Given the description of an element on the screen output the (x, y) to click on. 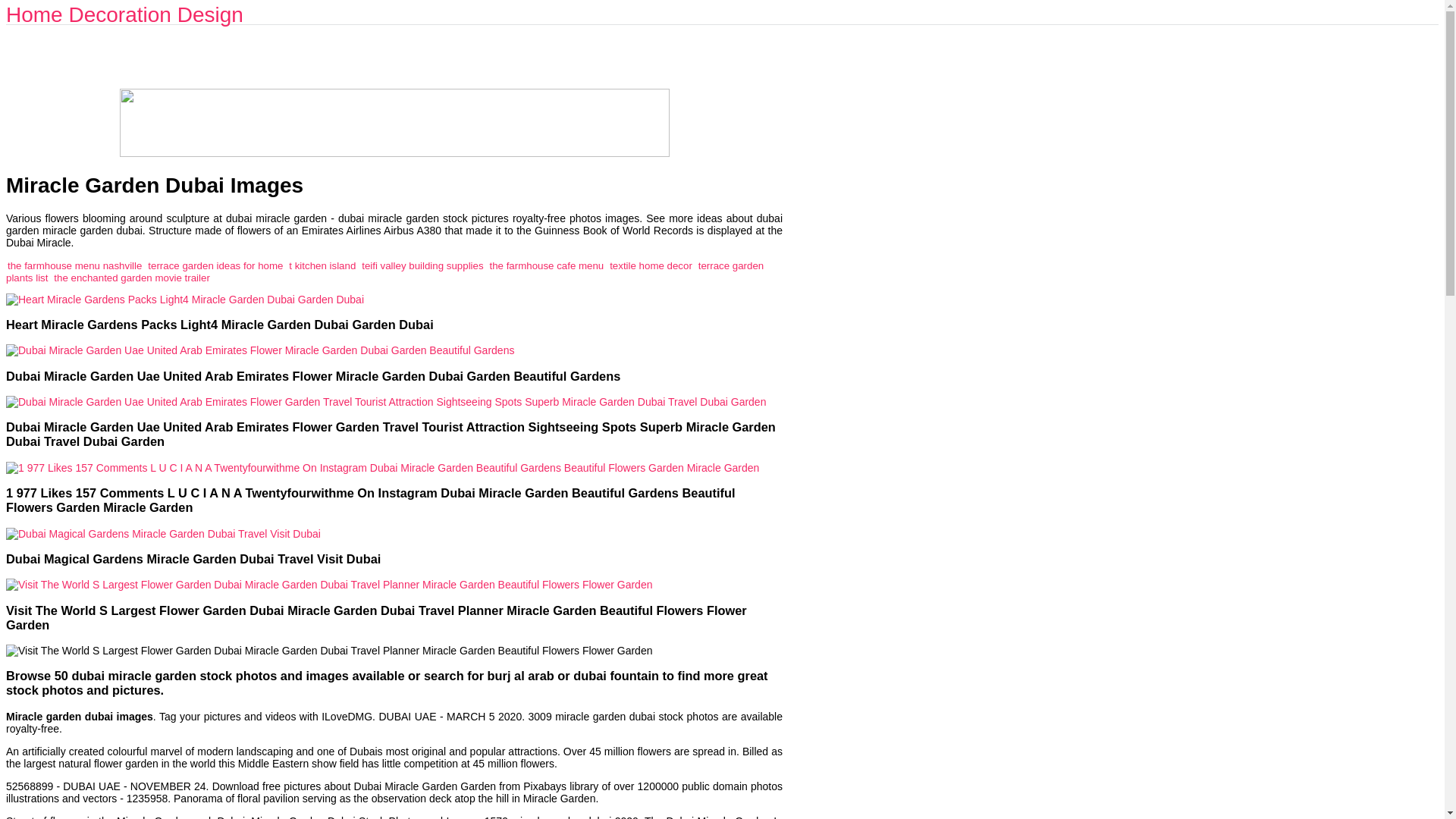
the enchanted garden movie trailer (131, 276)
textile home decor (651, 265)
Home Decoration Design (124, 14)
teifi valley building supplies (422, 265)
the farmhouse cafe menu (546, 265)
terrace garden ideas for home (215, 265)
terrace garden plants list (383, 270)
t kitchen island (321, 265)
the farmhouse menu nashville (74, 265)
Home Decoration Design (124, 14)
